Given the description of an element on the screen output the (x, y) to click on. 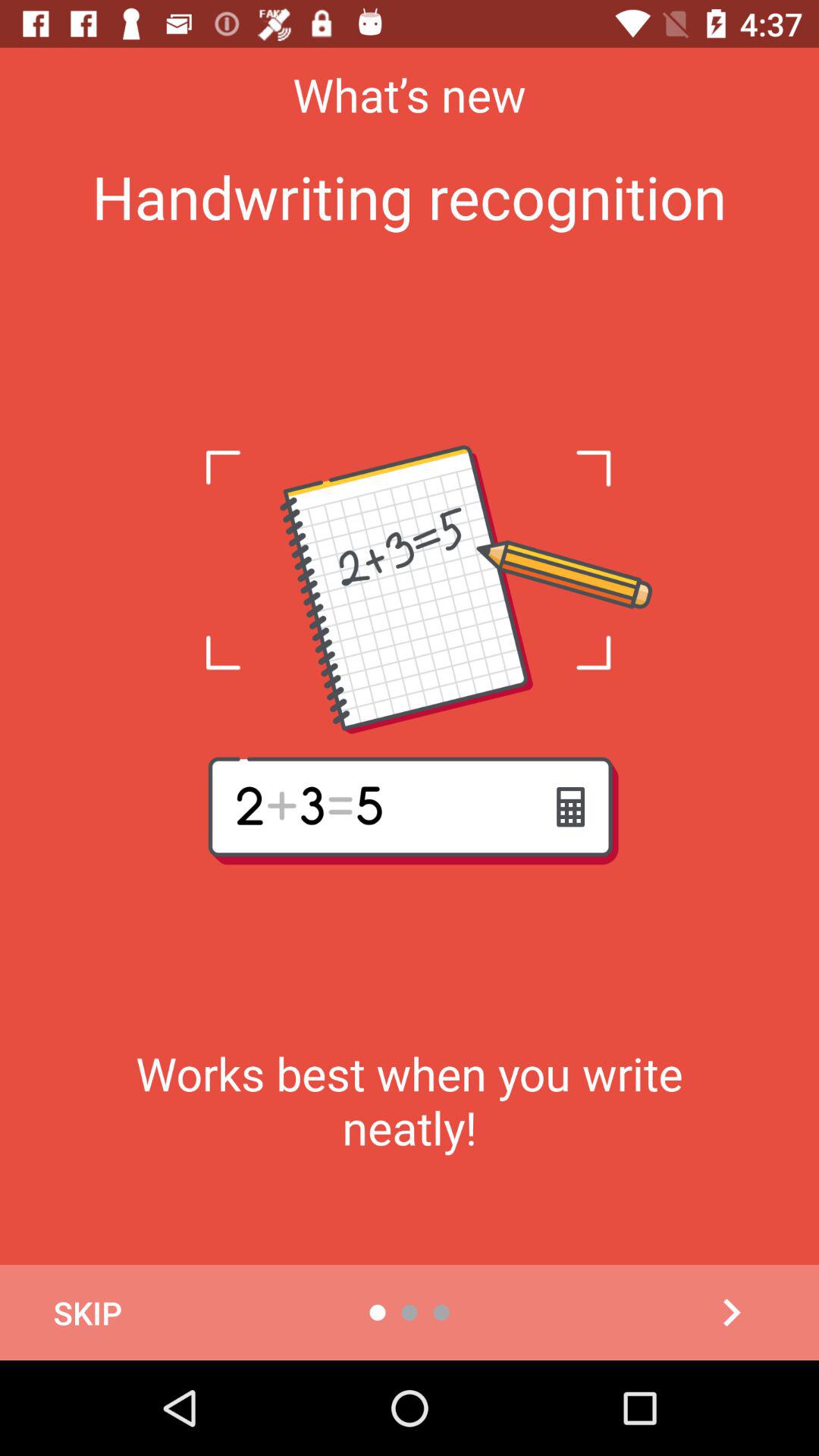
go to the next (731, 1312)
